Given the description of an element on the screen output the (x, y) to click on. 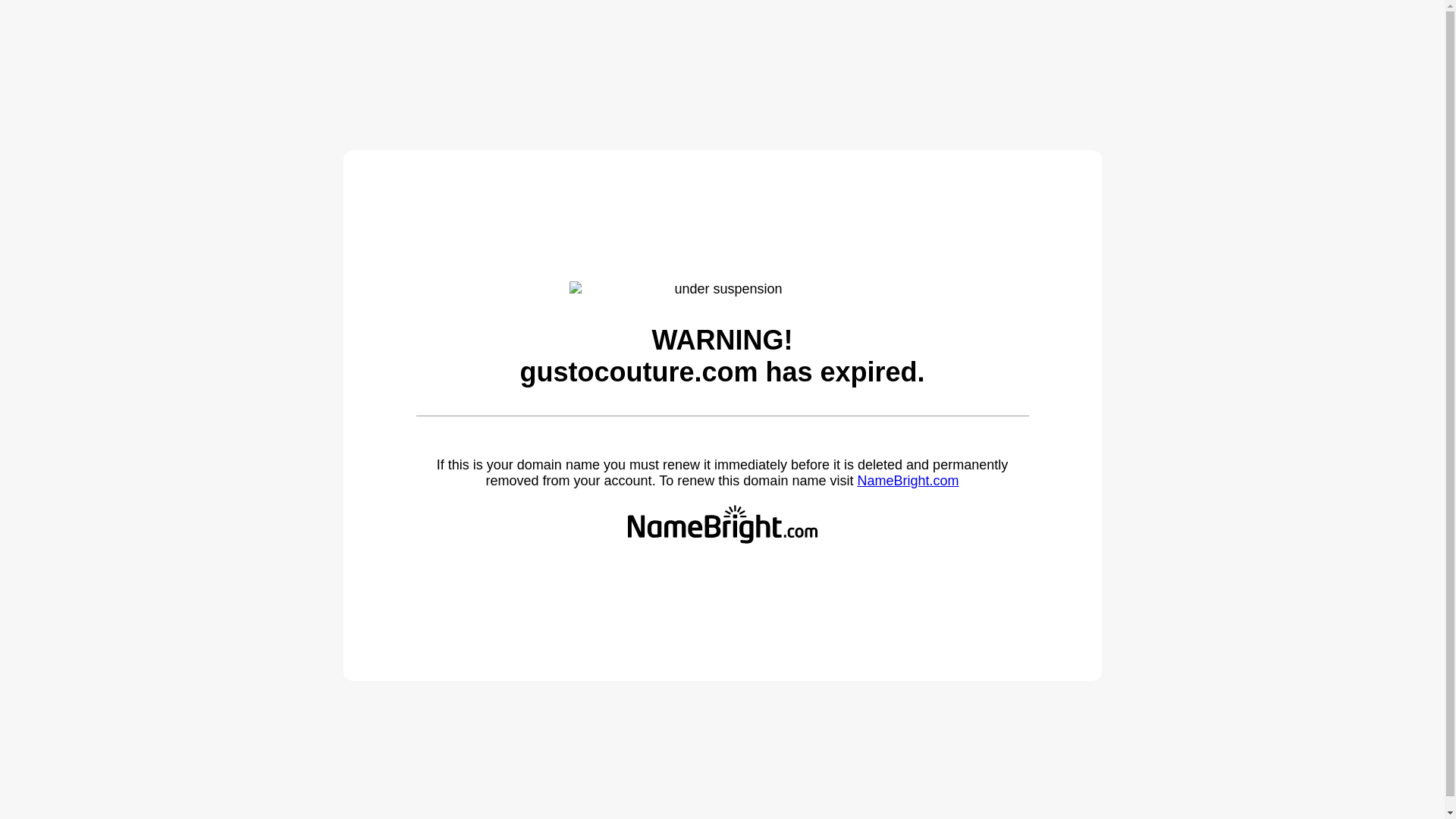
NameBright.com (907, 480)
